Given the description of an element on the screen output the (x, y) to click on. 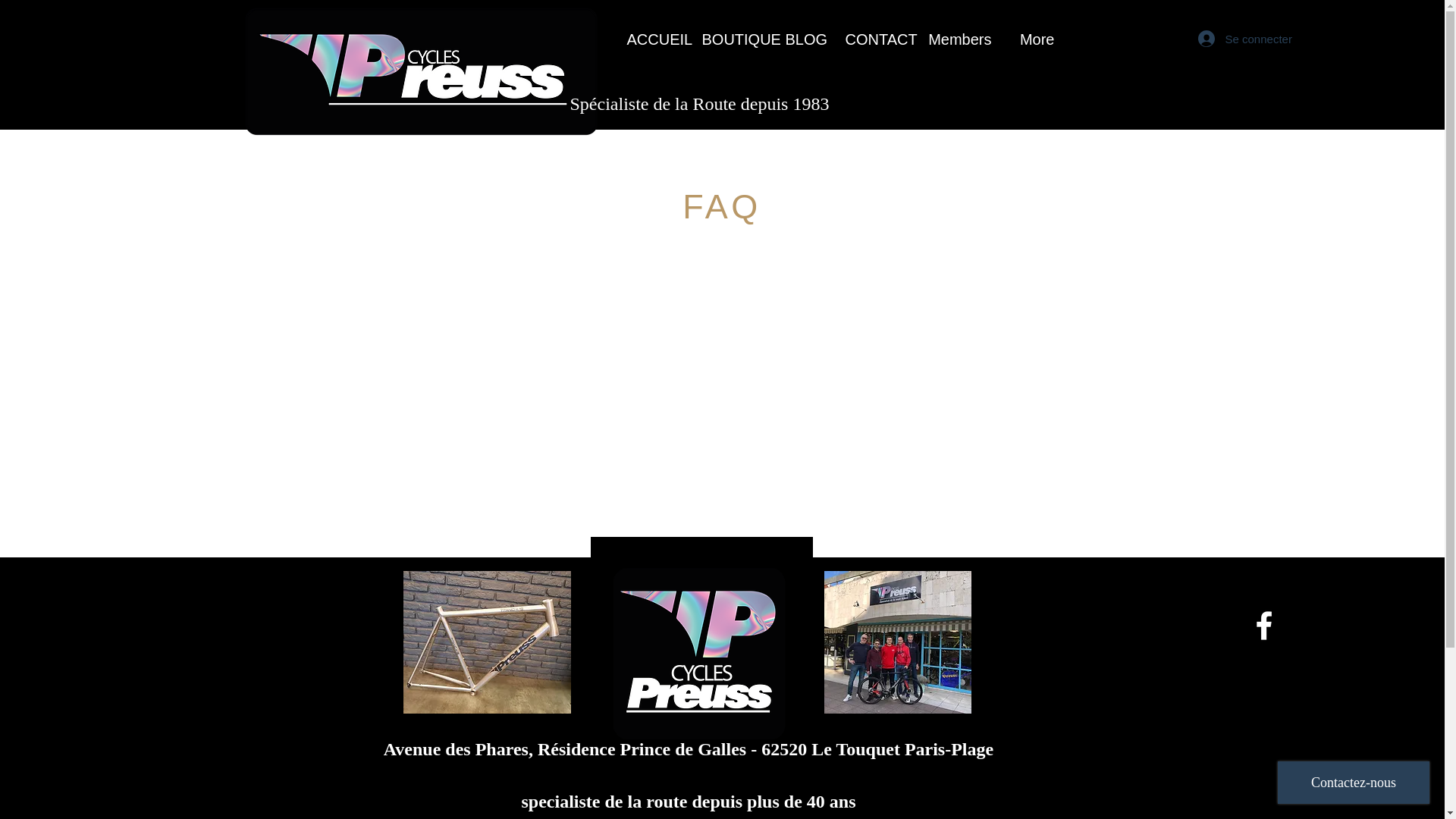
ACCUEIL (652, 37)
Members (957, 37)
BLOG (802, 37)
Se connecter (1229, 38)
CONTACT (874, 37)
BOUTIQUE (731, 37)
